Given the description of an element on the screen output the (x, y) to click on. 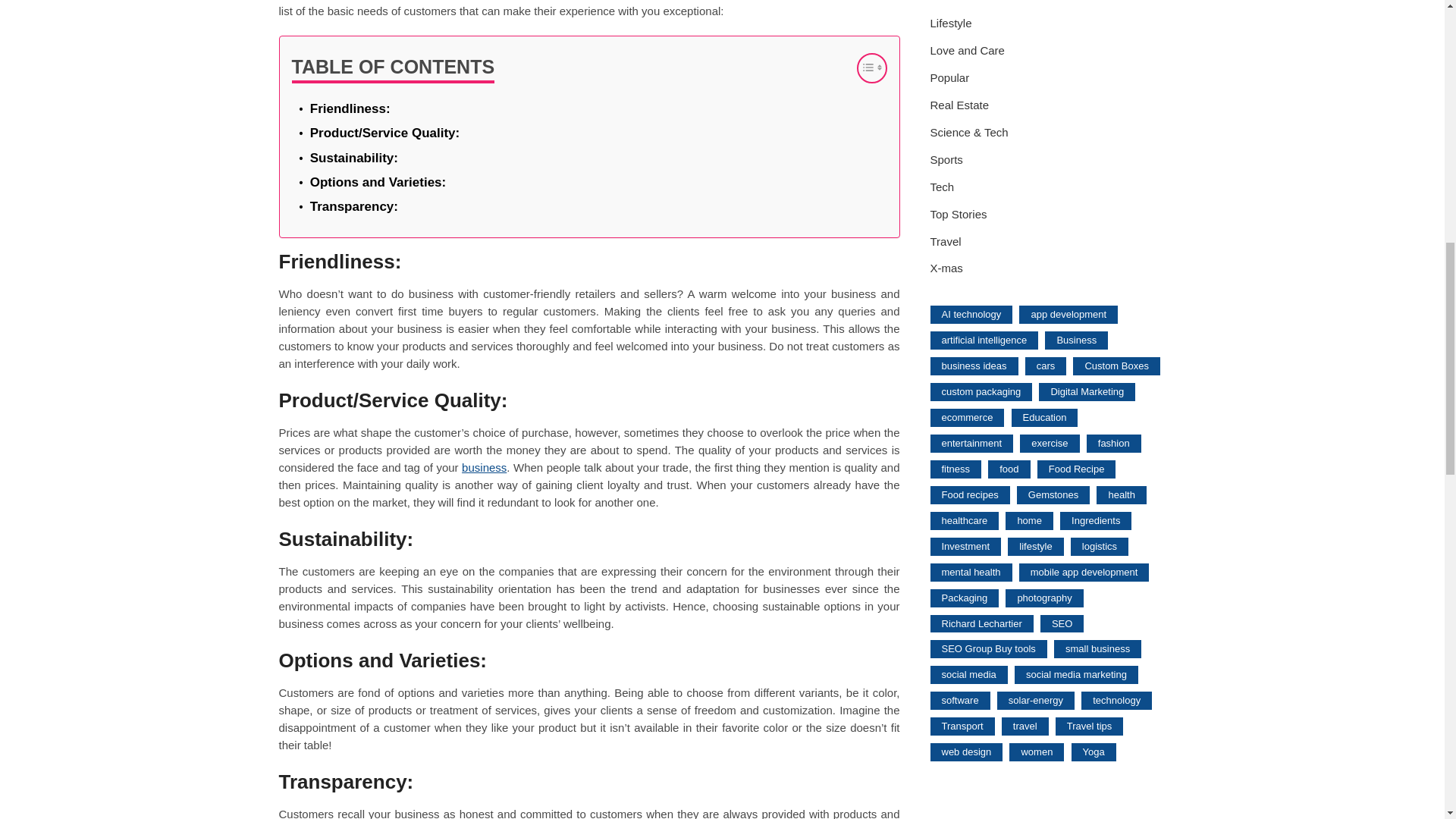
Sustainability: (353, 157)
Friendliness: (350, 108)
Transparency: (353, 206)
Options and Varieties: (378, 181)
